Given the description of an element on the screen output the (x, y) to click on. 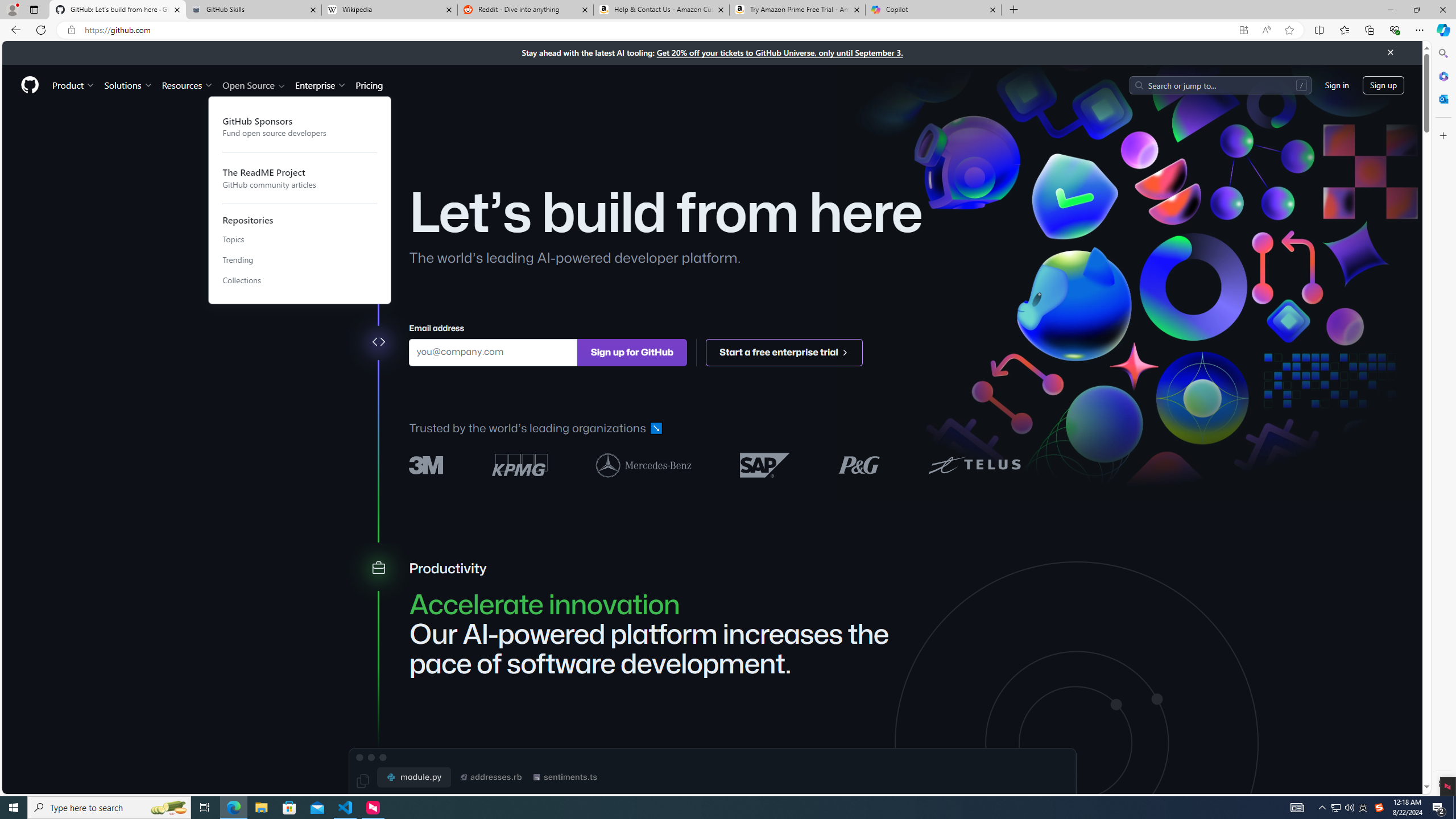
Sign up (1382, 84)
P&G logo (858, 464)
Wikipedia (390, 9)
Customize (1442, 135)
App bar (728, 29)
Homepage (29, 85)
KPMG logo (519, 464)
